Given the description of an element on the screen output the (x, y) to click on. 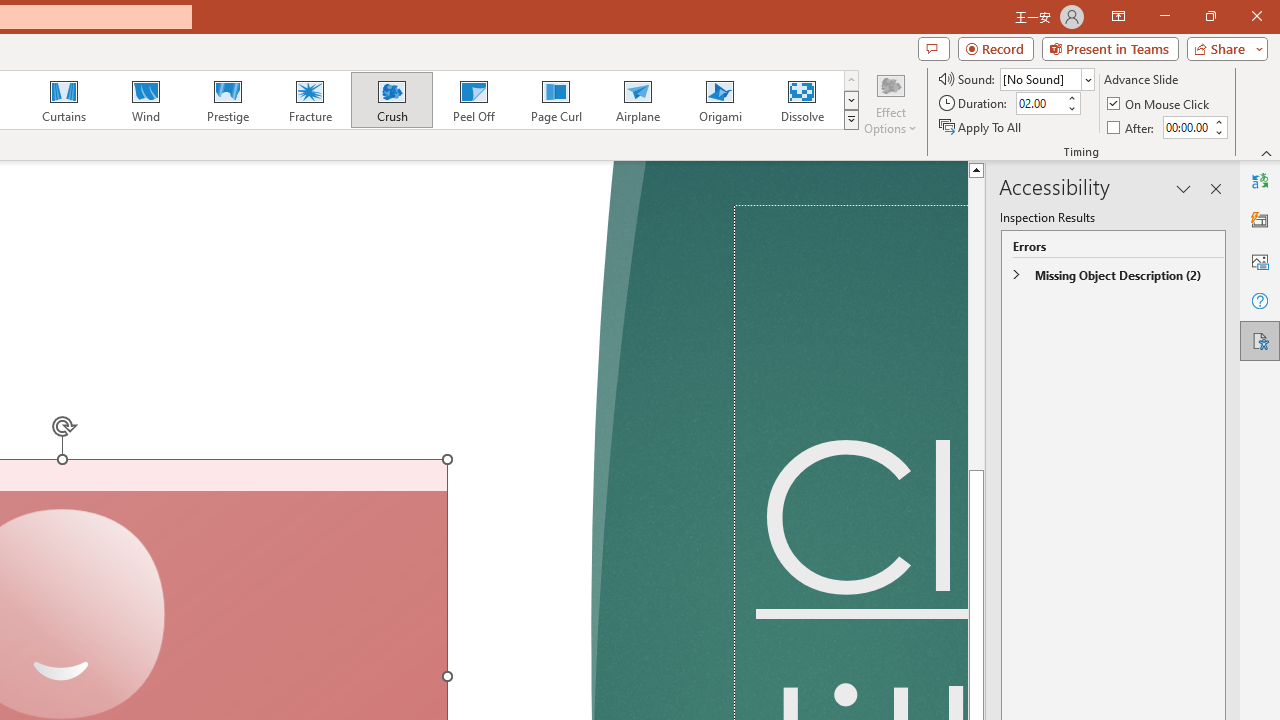
Crush (391, 100)
After (1131, 126)
Fracture (309, 100)
Sound (1046, 78)
Dissolve (802, 100)
After (1186, 127)
Duration (1039, 103)
On Mouse Click (1159, 103)
Peel Off (473, 100)
